Given the description of an element on the screen output the (x, y) to click on. 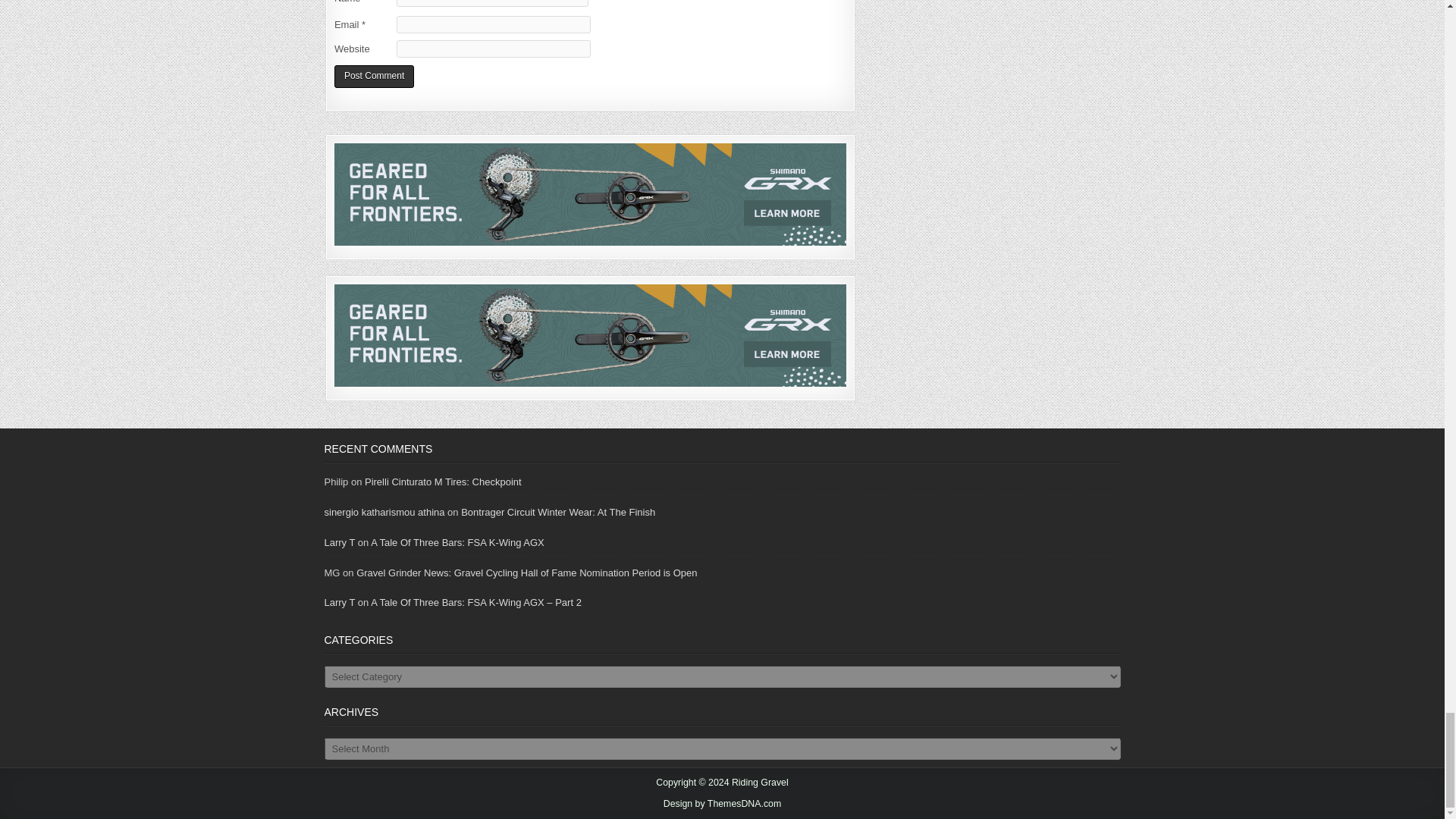
Post Comment (373, 76)
